Given the description of an element on the screen output the (x, y) to click on. 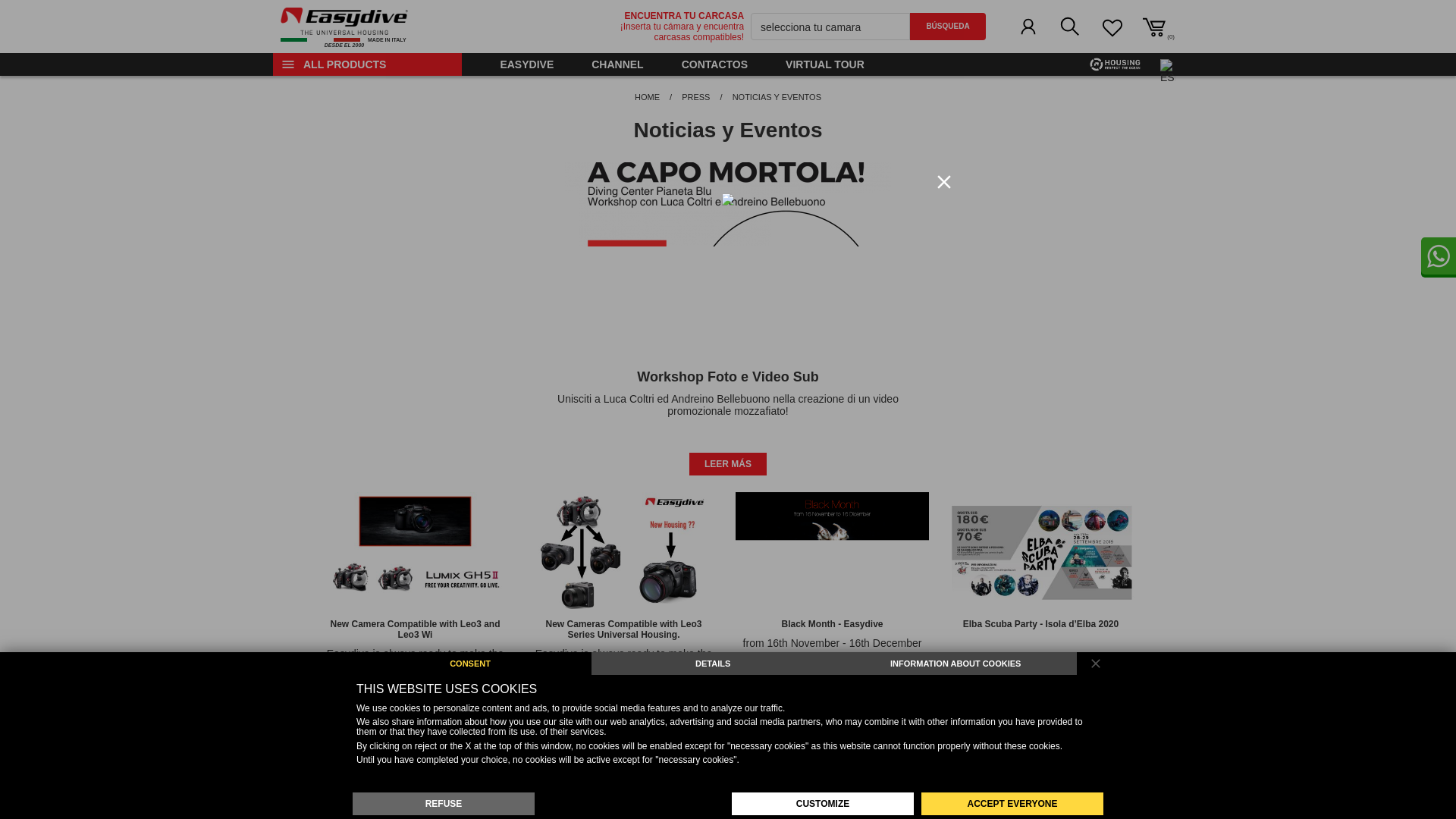
Easydive Online Shop (344, 26)
ALL PRODUCTS (344, 26)
